Given the description of an element on the screen output the (x, y) to click on. 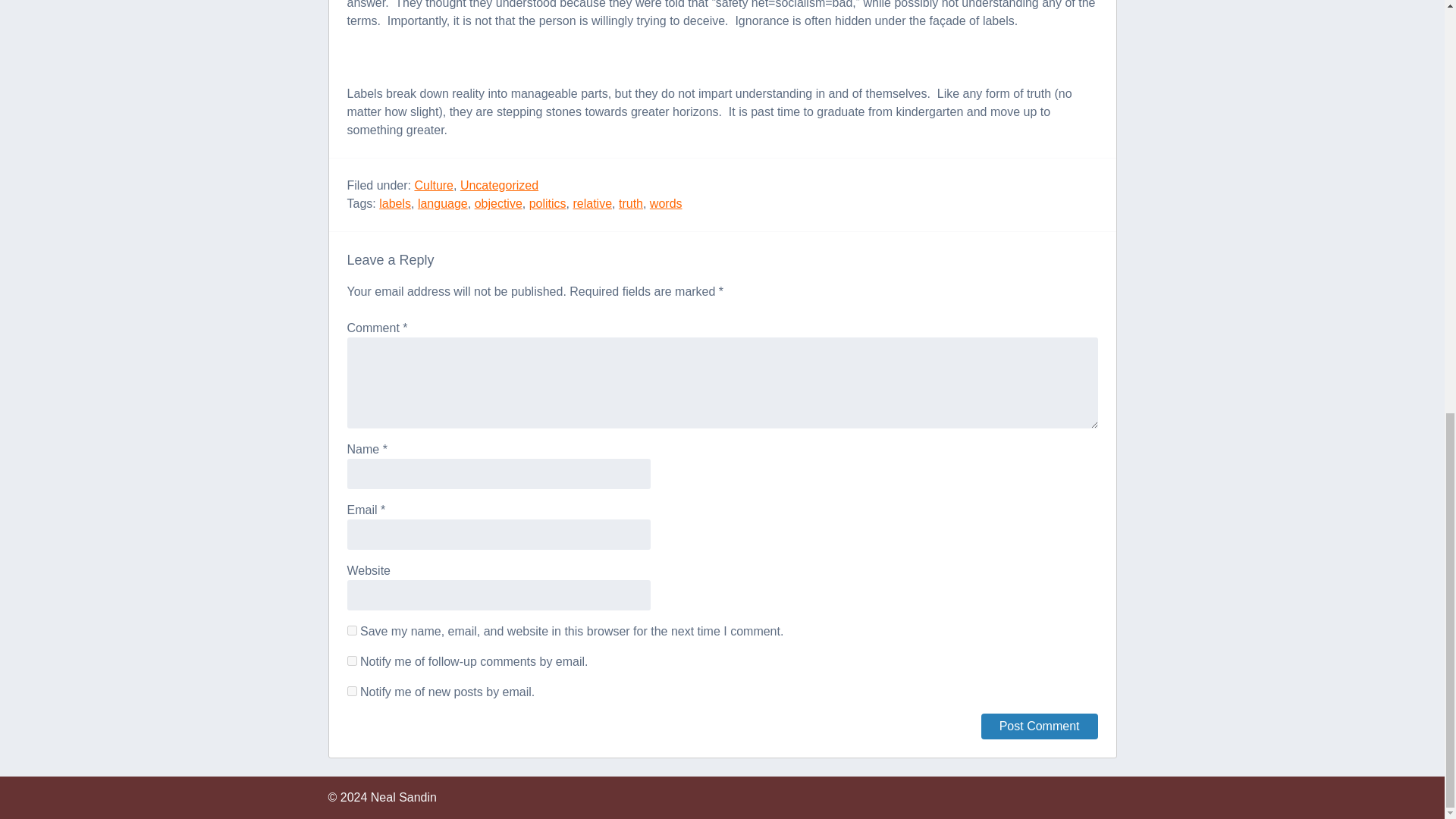
subscribe (351, 691)
Culture (432, 185)
labels (394, 203)
yes (351, 630)
words (665, 203)
subscribe (351, 660)
truth (630, 203)
language (442, 203)
objective (498, 203)
Uncategorized (499, 185)
